Given the description of an element on the screen output the (x, y) to click on. 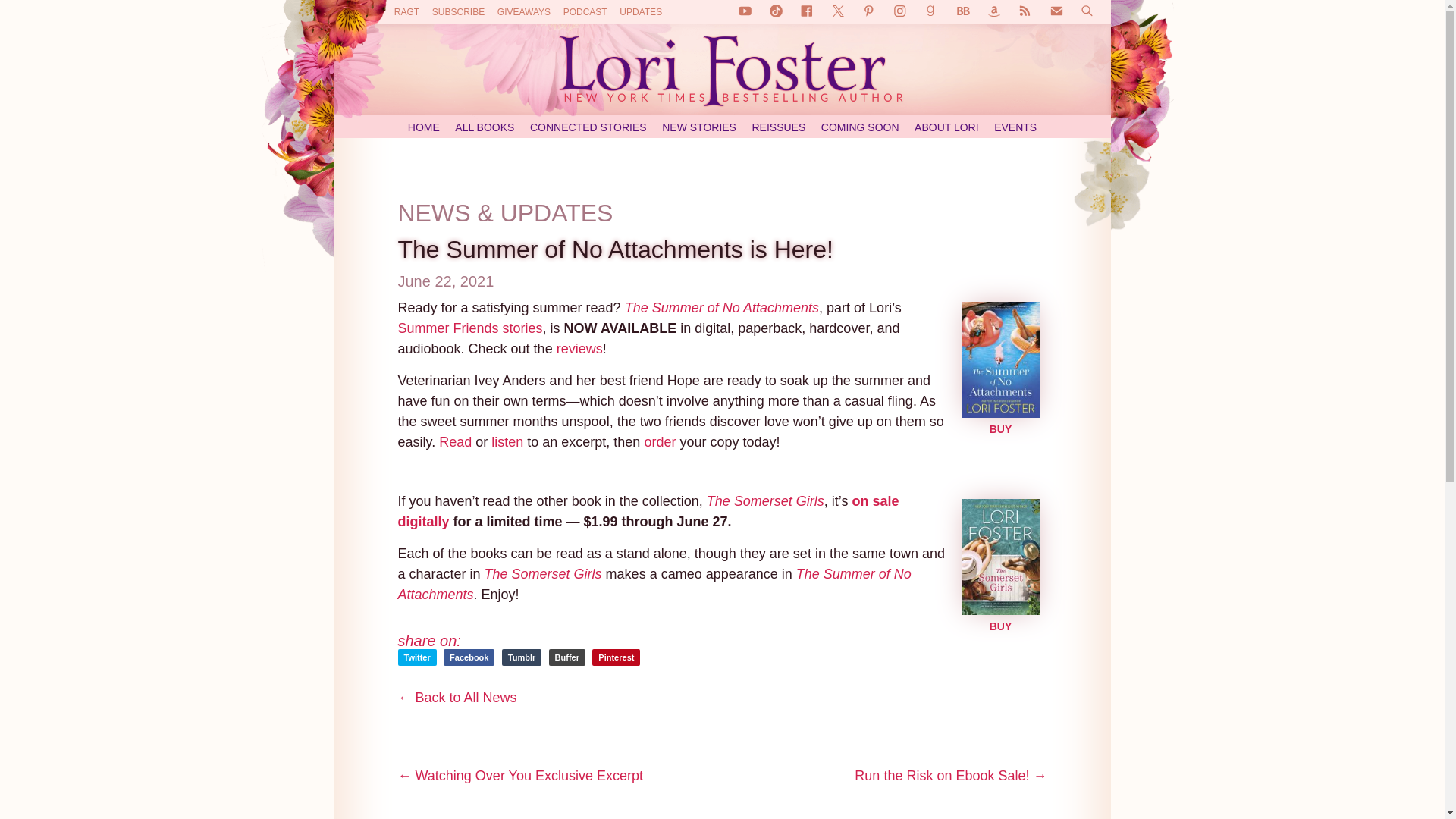
PODCAST (585, 11)
GIVEAWAYS (523, 11)
NEW STORIES (699, 127)
ABOUT LORI (946, 127)
COMING SOON (860, 127)
UPDATES (641, 11)
CONNECTED STORIES (587, 127)
RAGT (406, 11)
SUBSCRIBE (458, 11)
REISSUES (779, 127)
ALL BOOKS (483, 127)
HOME (423, 127)
EVENTS (1015, 127)
